Given the description of an element on the screen output the (x, y) to click on. 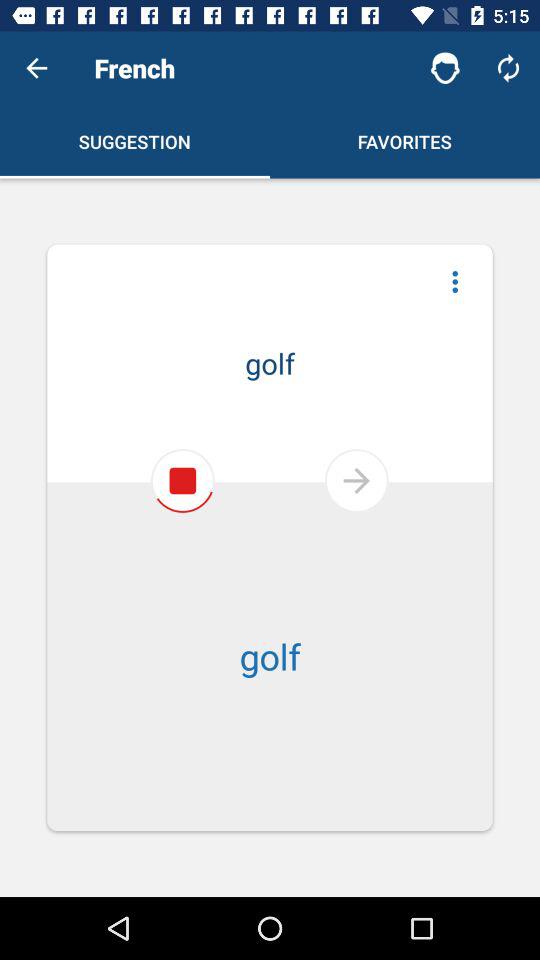
select golf (269, 623)
click on profile icon (445, 68)
click on the option below favorites (455, 281)
click on the profile option beside refresh option (445, 68)
